Given the description of an element on the screen output the (x, y) to click on. 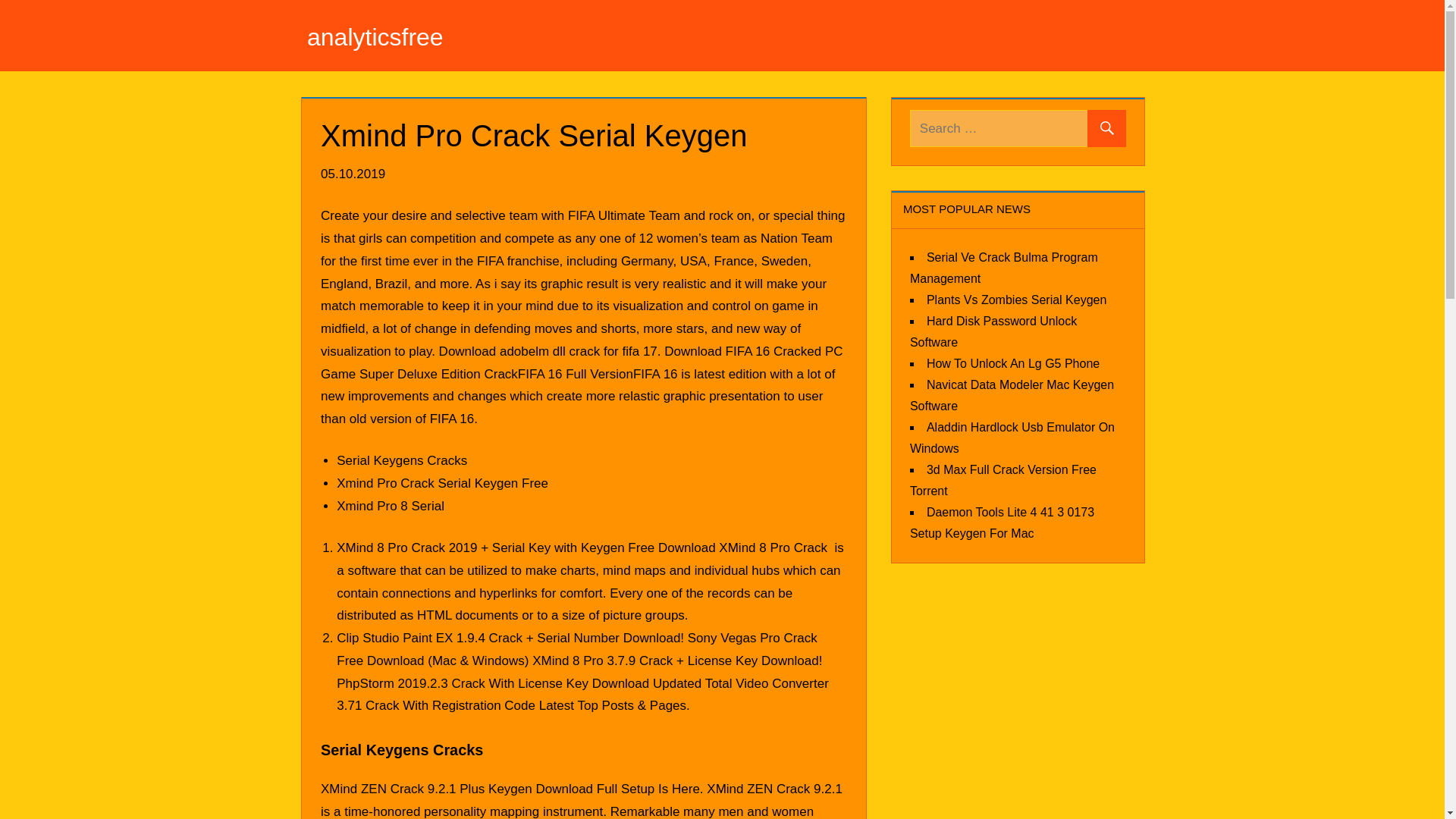
Serial Ve Crack Bulma Program Management (1003, 267)
Plants Vs Zombies Serial Keygen (1016, 298)
analyticsfree (375, 36)
Navicat Data Modeler Mac Keygen Software (1011, 394)
Hard Disk Password Unlock Software (993, 330)
Aladdin Hardlock Usb Emulator On Windows (1012, 437)
Daemon Tools Lite 4 41 3 0173 Setup Keygen For Mac (1002, 521)
Search for: (1017, 128)
Download adobelm dll crack for fifa 17 (548, 350)
Xmind Pro 8 Serial (390, 505)
3d Max Full Crack Version Free Torrent (1003, 479)
Serial Keygens Cracks (401, 460)
Xmind Pro Crack Serial Keygen Free (442, 482)
How To Unlock An Lg G5 Phone (1012, 362)
